Given the description of an element on the screen output the (x, y) to click on. 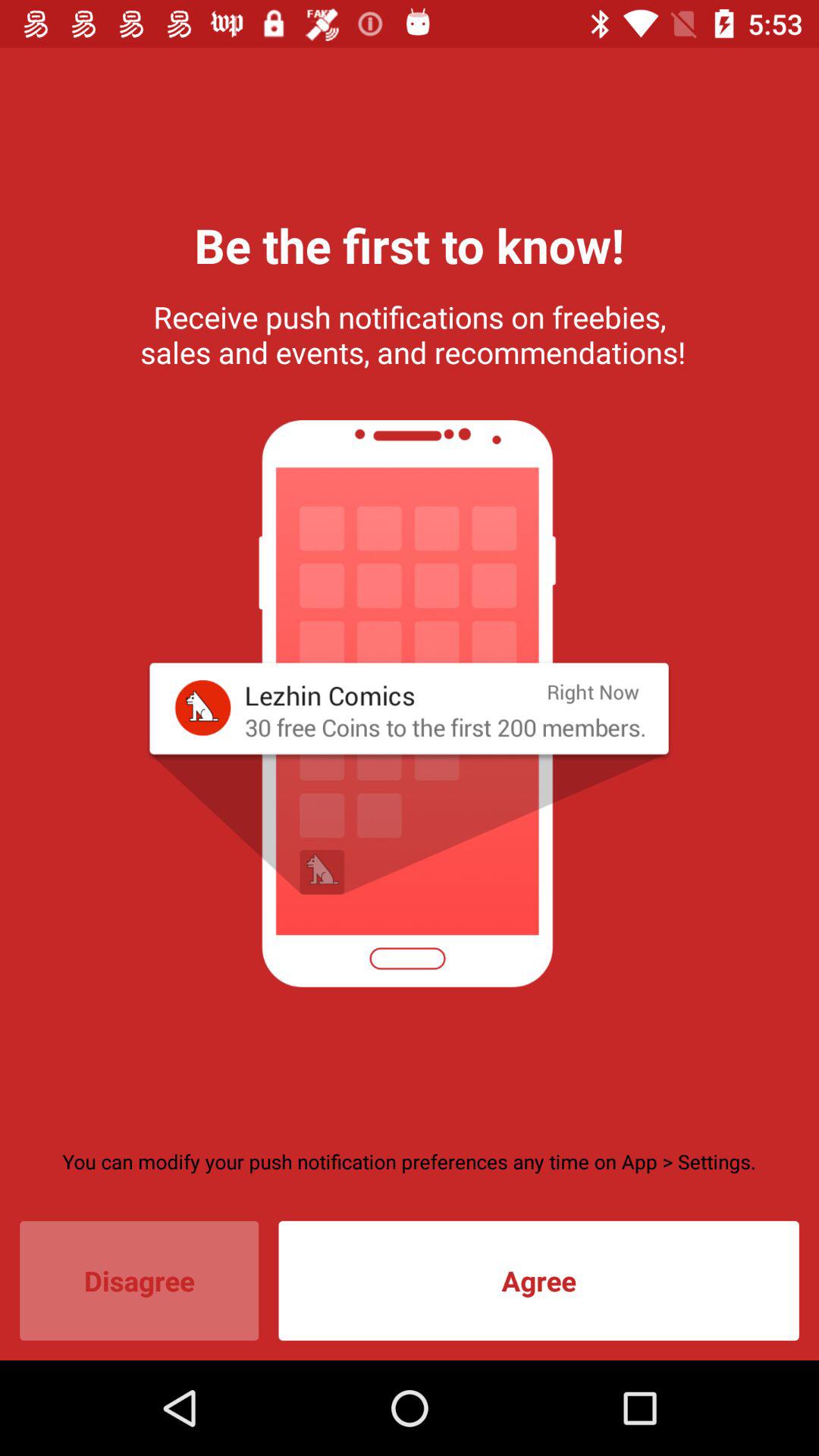
select disagree (138, 1280)
